Given the description of an element on the screen output the (x, y) to click on. 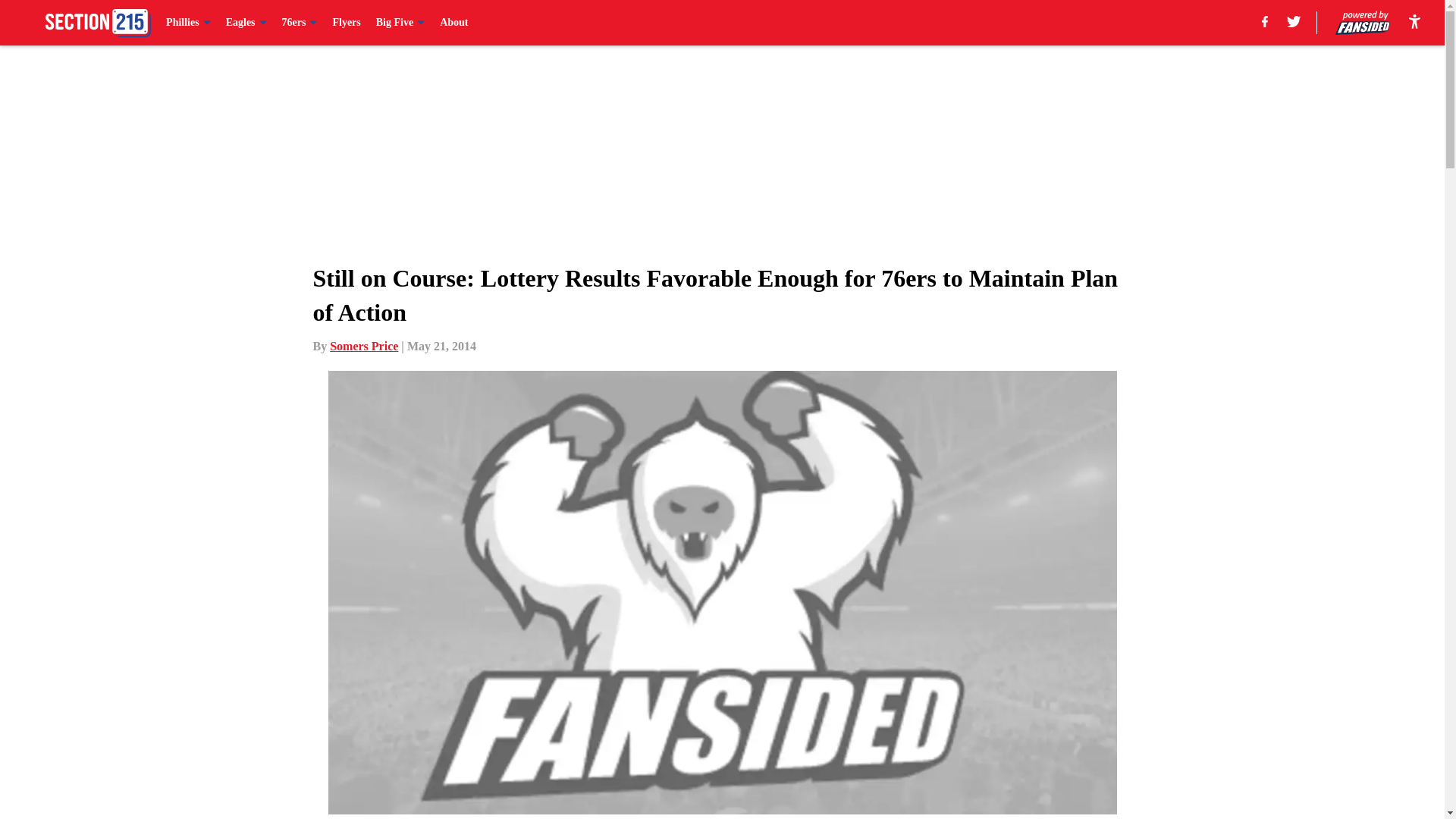
Flyers (345, 22)
Somers Price (363, 345)
About (453, 22)
